Given the description of an element on the screen output the (x, y) to click on. 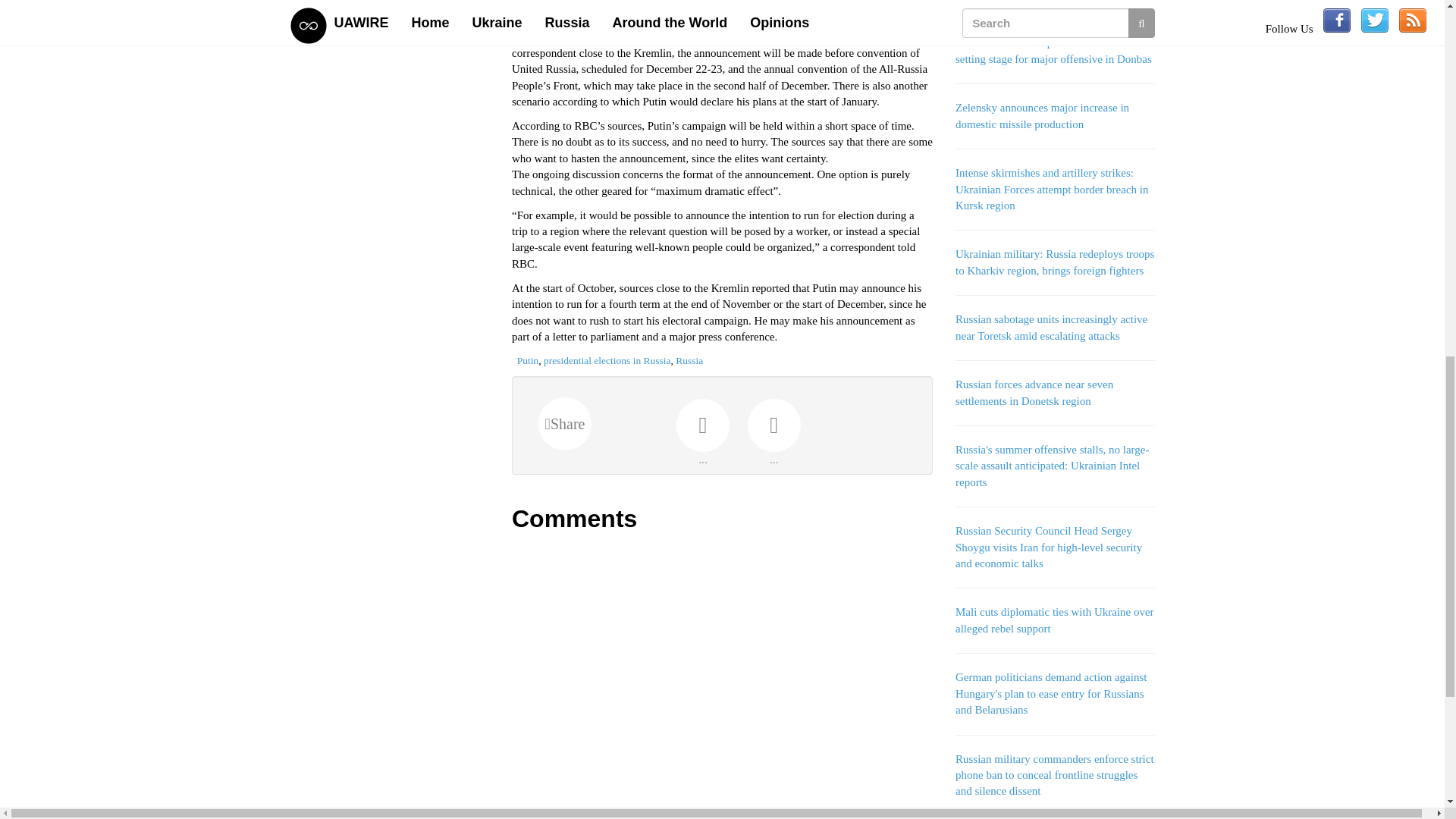
Putin (527, 360)
Russia (689, 360)
presidential elections in Russia (607, 360)
